Given the description of an element on the screen output the (x, y) to click on. 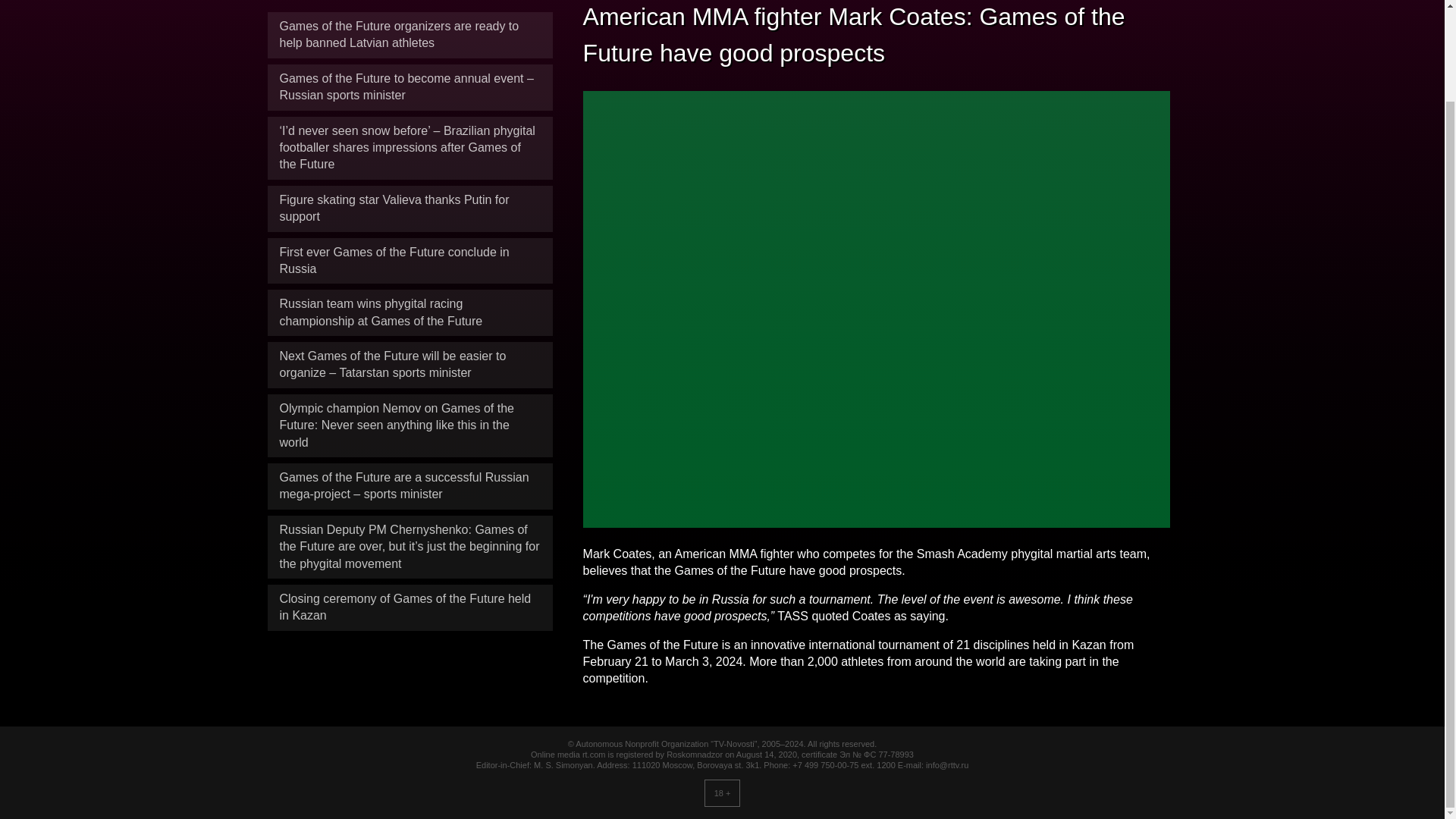
First ever Games of the Future conclude in Russia (393, 246)
Closing ceremony of Games of the Future held in Kazan (405, 593)
Figure skating star Valieva thanks Putin for support (393, 194)
